Given the description of an element on the screen output the (x, y) to click on. 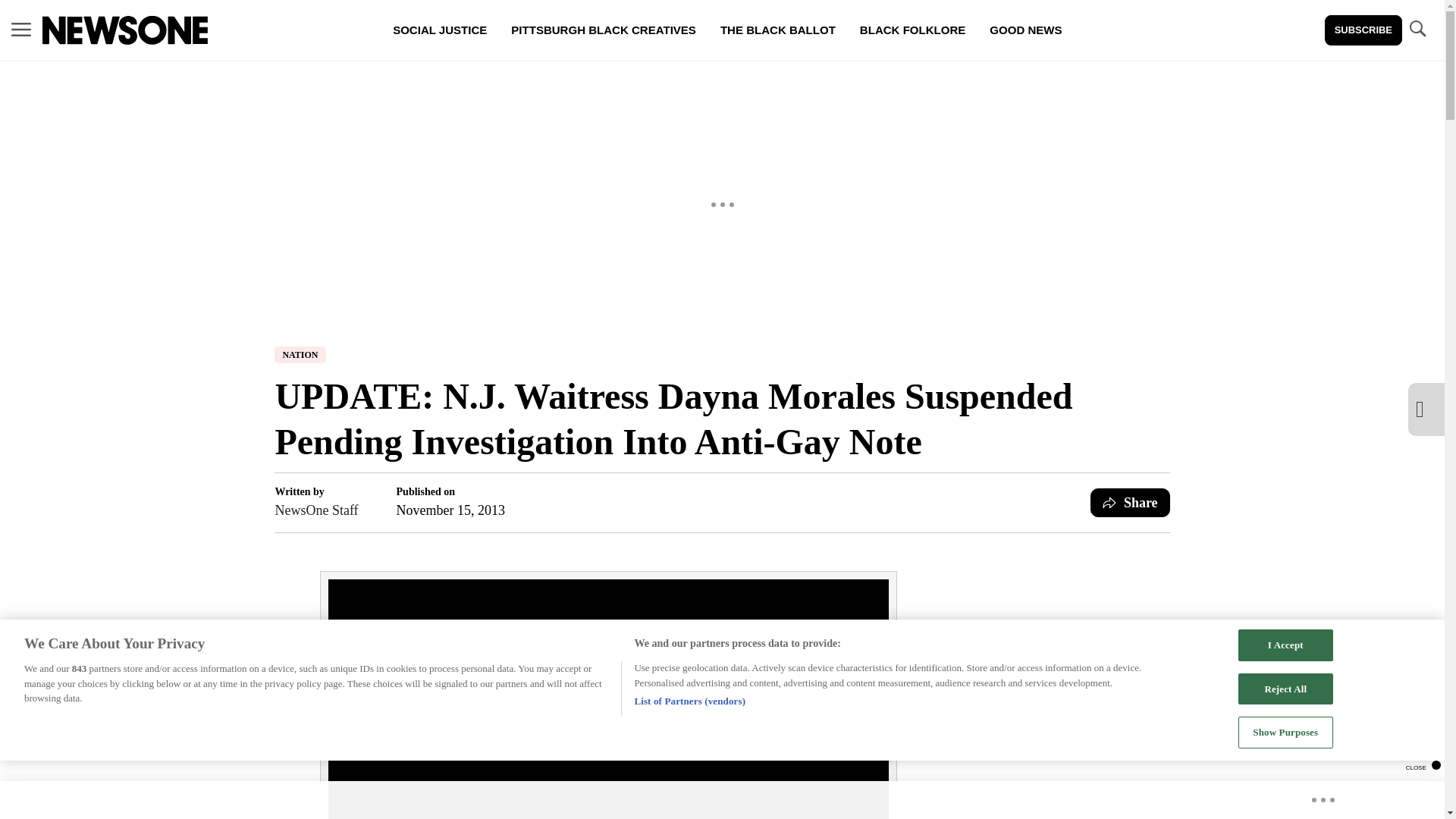
TOGGLE SEARCH (1417, 30)
THE BLACK BALLOT (777, 30)
NATION (299, 354)
PITTSBURGH BLACK CREATIVES (603, 30)
MENU (20, 30)
BLACK FOLKLORE (911, 30)
NewsOne Staff (316, 509)
Share (1130, 502)
SUBSCRIBE (1363, 30)
GOOD NEWS (1025, 30)
MENU (20, 29)
TOGGLE SEARCH (1417, 28)
SOCIAL JUSTICE (439, 30)
